Given the description of an element on the screen output the (x, y) to click on. 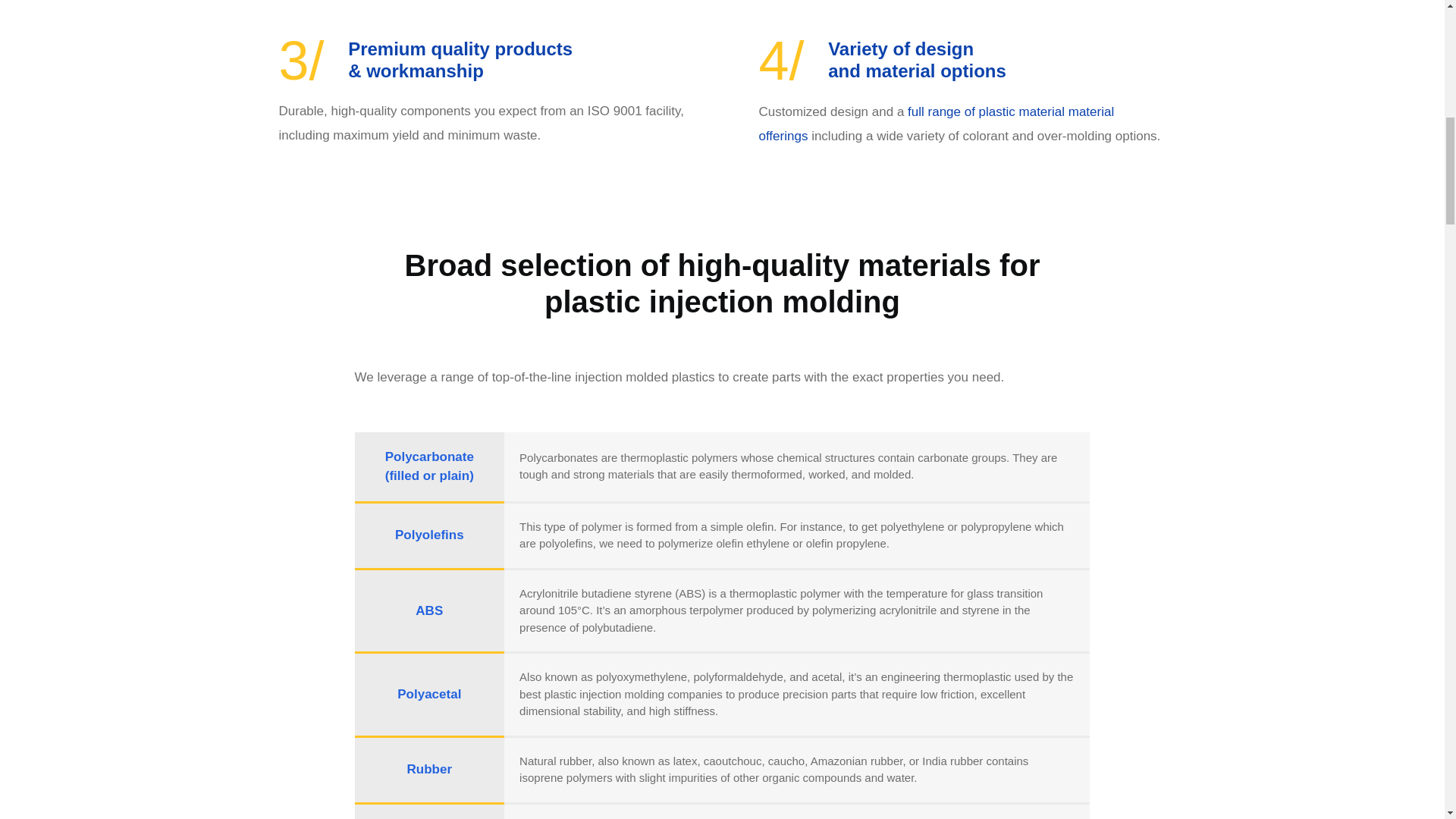
full range of plastic material material offerings (935, 123)
